Given the description of an element on the screen output the (x, y) to click on. 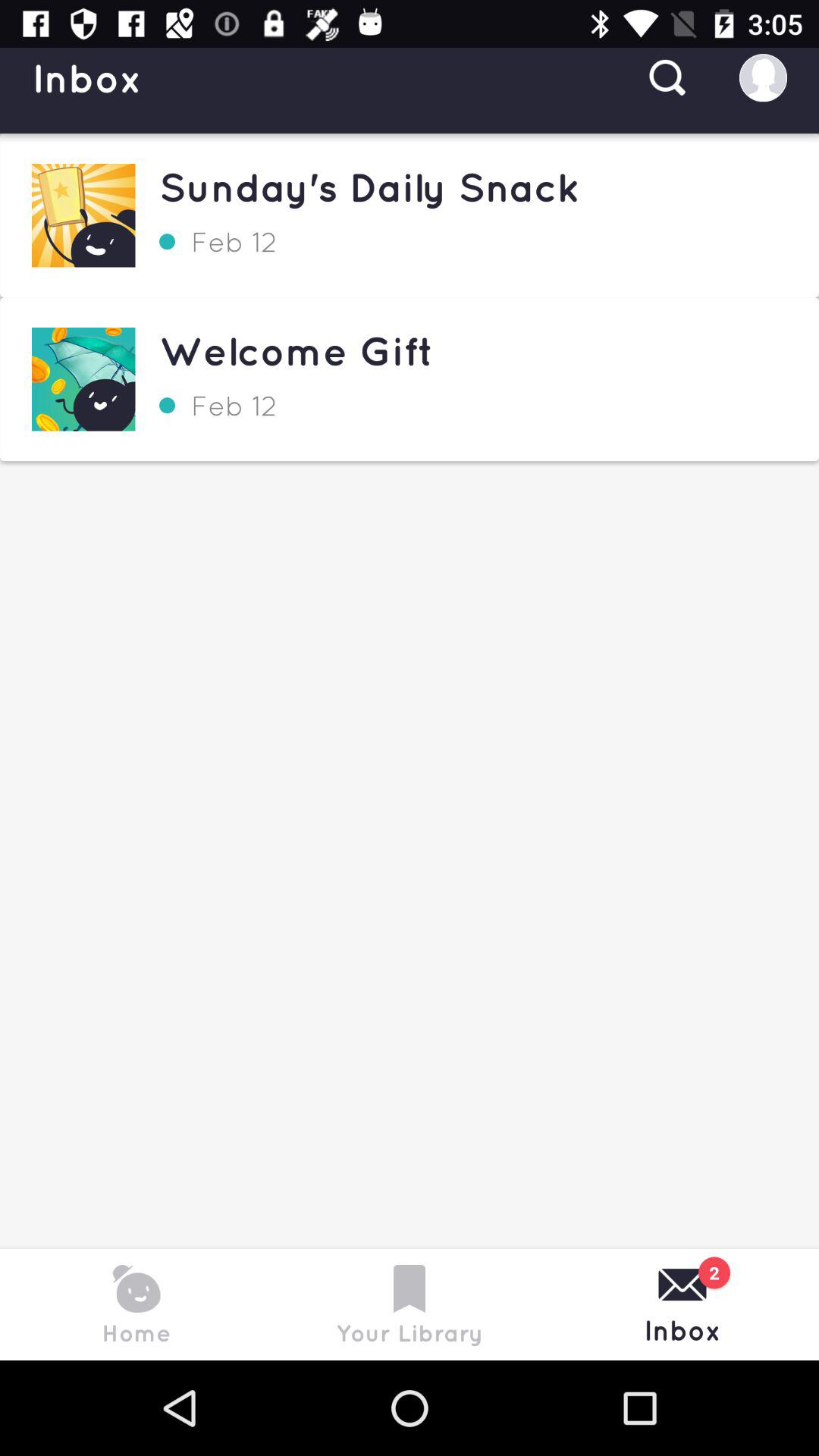
click on the second image (83, 378)
select the first image appearing (83, 215)
click on the profile icon (763, 77)
